Given the description of an element on the screen output the (x, y) to click on. 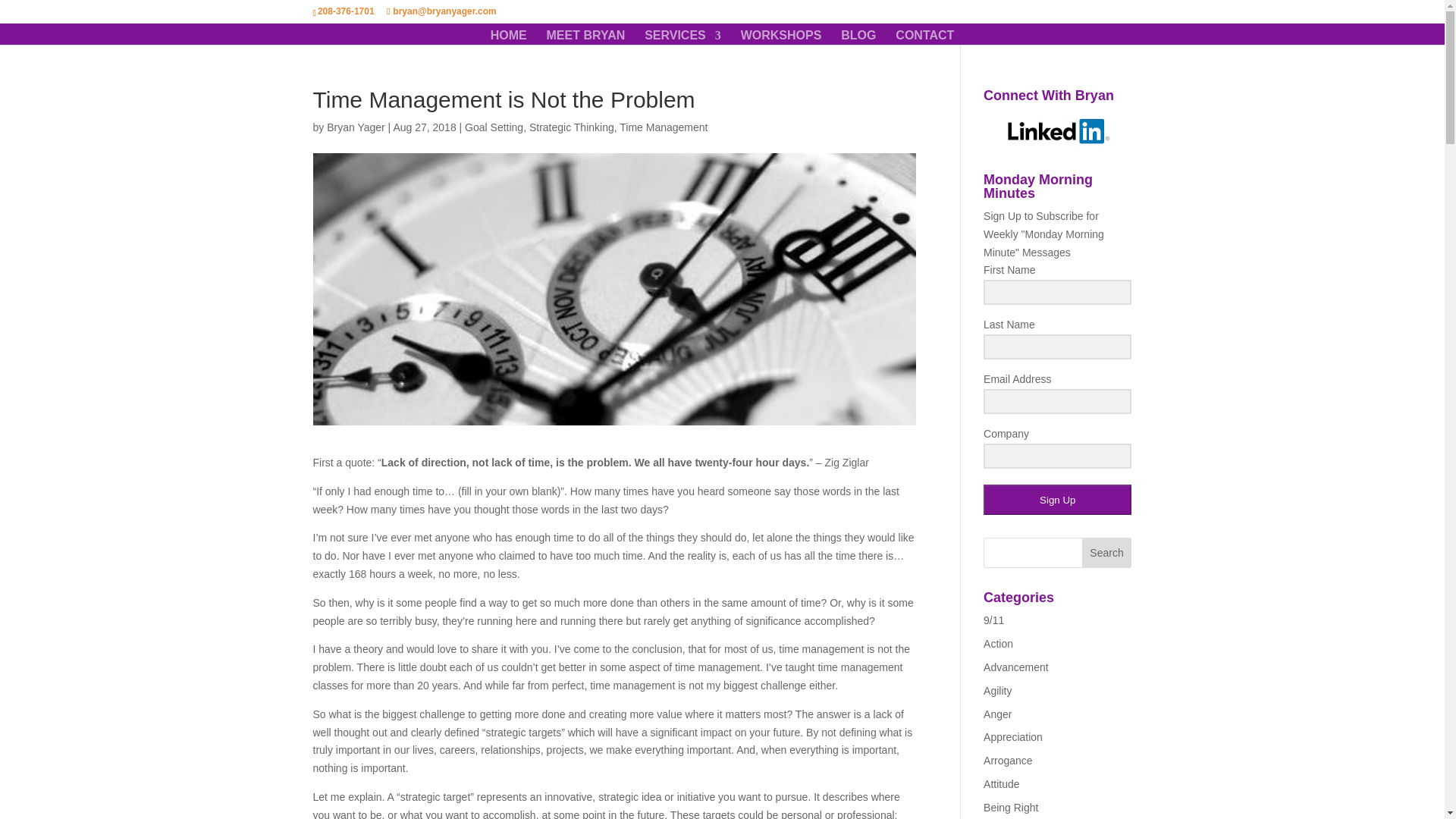
Time Management (663, 127)
Being Right (1011, 807)
Agility (997, 690)
BLOG (858, 37)
Action (998, 644)
Bryan Yager (355, 127)
HOME (508, 37)
Anger (997, 714)
Sign Up (1057, 499)
Search (1106, 552)
Attitude (1001, 784)
Posts by Bryan Yager (355, 127)
Arrogance (1008, 760)
Advancement (1016, 666)
Search (1106, 552)
